Given the description of an element on the screen output the (x, y) to click on. 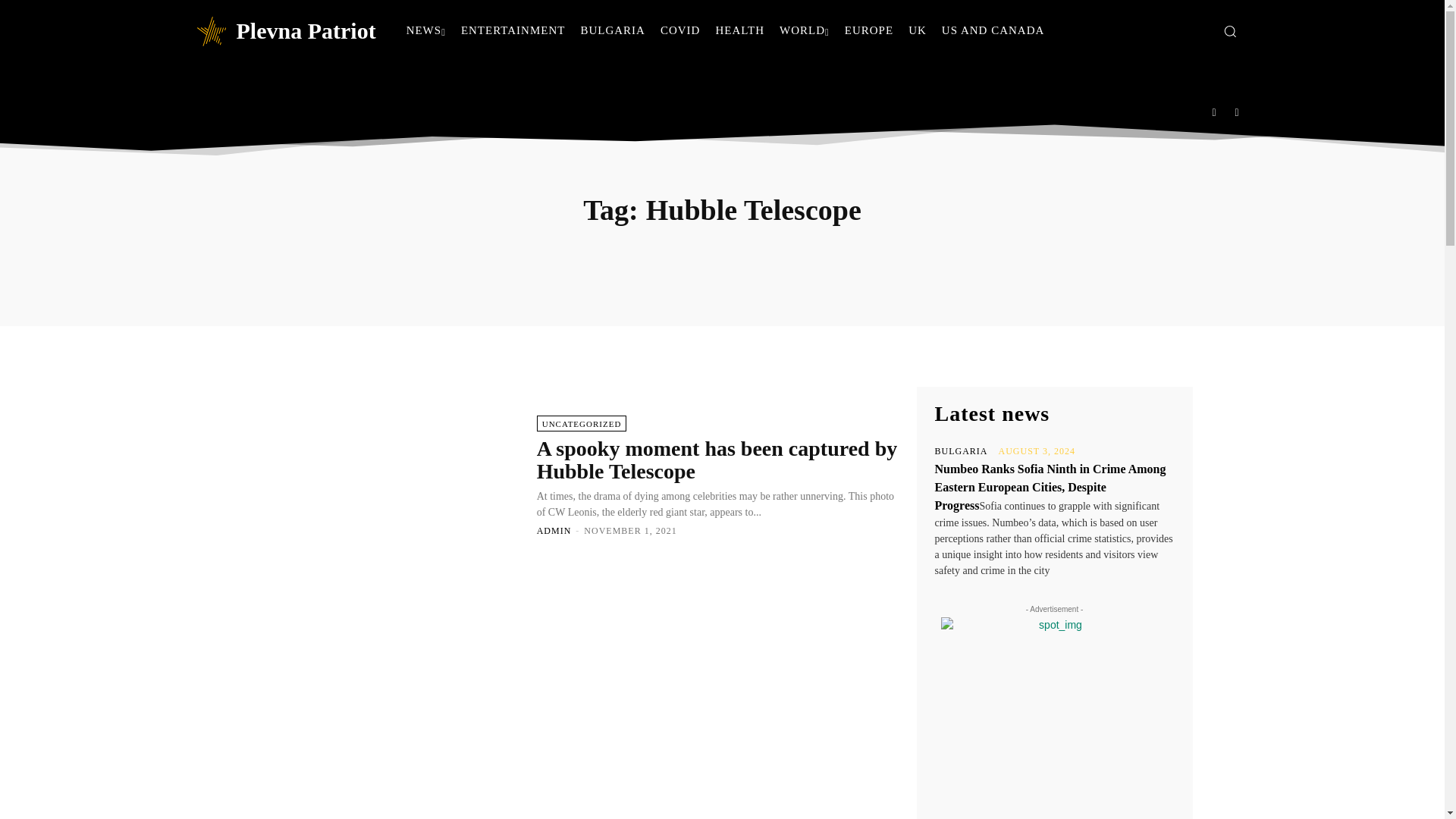
A spooky moment has been captured by Hubble Telescope (717, 460)
US AND CANADA (993, 30)
NEWS (425, 30)
WORLD (804, 30)
Twitter (1237, 111)
COVID (679, 30)
BULGARIA (612, 30)
EUROPE (869, 30)
HEALTH (739, 30)
Plevna Patriot (284, 30)
UNCATEGORIZED (582, 423)
ENTERTAINMENT (512, 30)
A spooky moment has been captured by Hubble Telescope (395, 474)
Facebook (1214, 111)
